Given the description of an element on the screen output the (x, y) to click on. 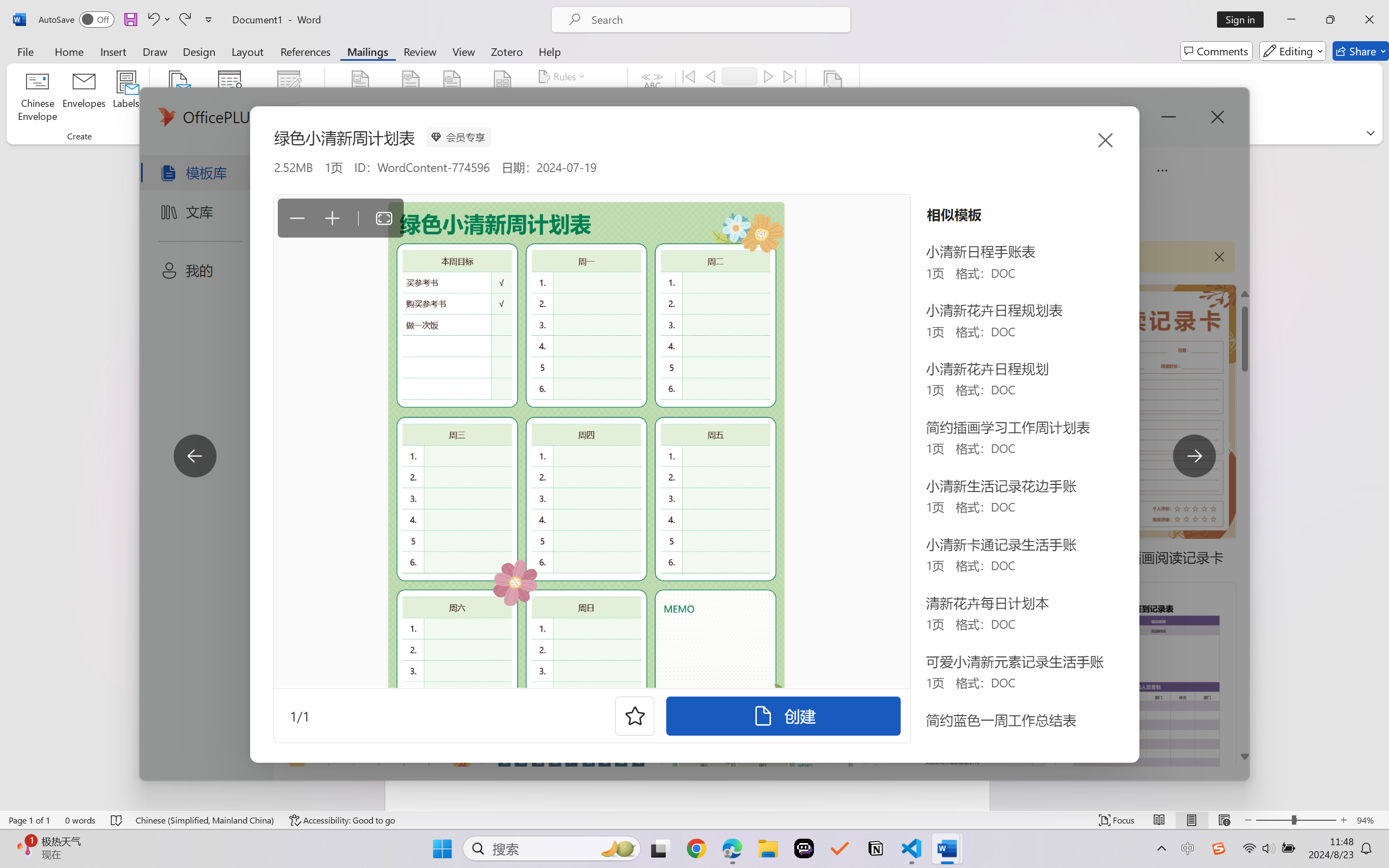
Envelopes... (84, 97)
Sign in (1244, 19)
Match Fields... (573, 97)
Language Chinese (Simplified, Mainland China) (205, 819)
Highlight Merge Fields (360, 97)
Preview Results (652, 97)
